Given the description of an element on the screen output the (x, y) to click on. 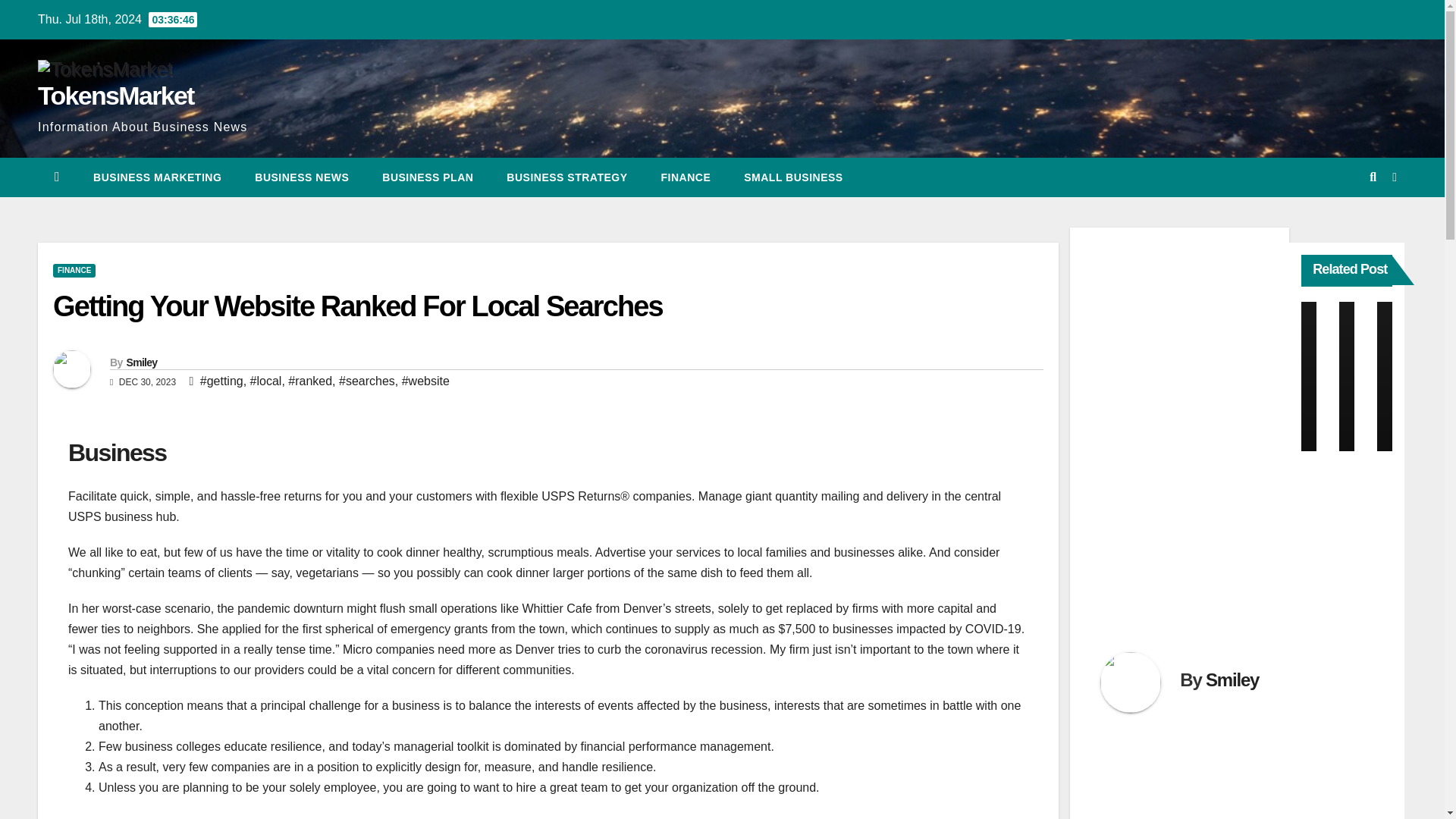
TokensMarket (115, 95)
SMALL BUSINESS (792, 177)
Smiley (141, 362)
BUSINESS MARKETING (157, 177)
Getting Your Website Ranked For Local Searches (357, 306)
BUSINESS PLAN (427, 177)
BUSINESS NEWS (301, 177)
Finance (686, 177)
Permalink to: Getting Your Website Ranked For Local Searches (357, 306)
Business News (301, 177)
FINANCE (686, 177)
Business Plan (427, 177)
FINANCE (74, 270)
BUSINESS STRATEGY (566, 177)
Smiley (1232, 679)
